Given the description of an element on the screen output the (x, y) to click on. 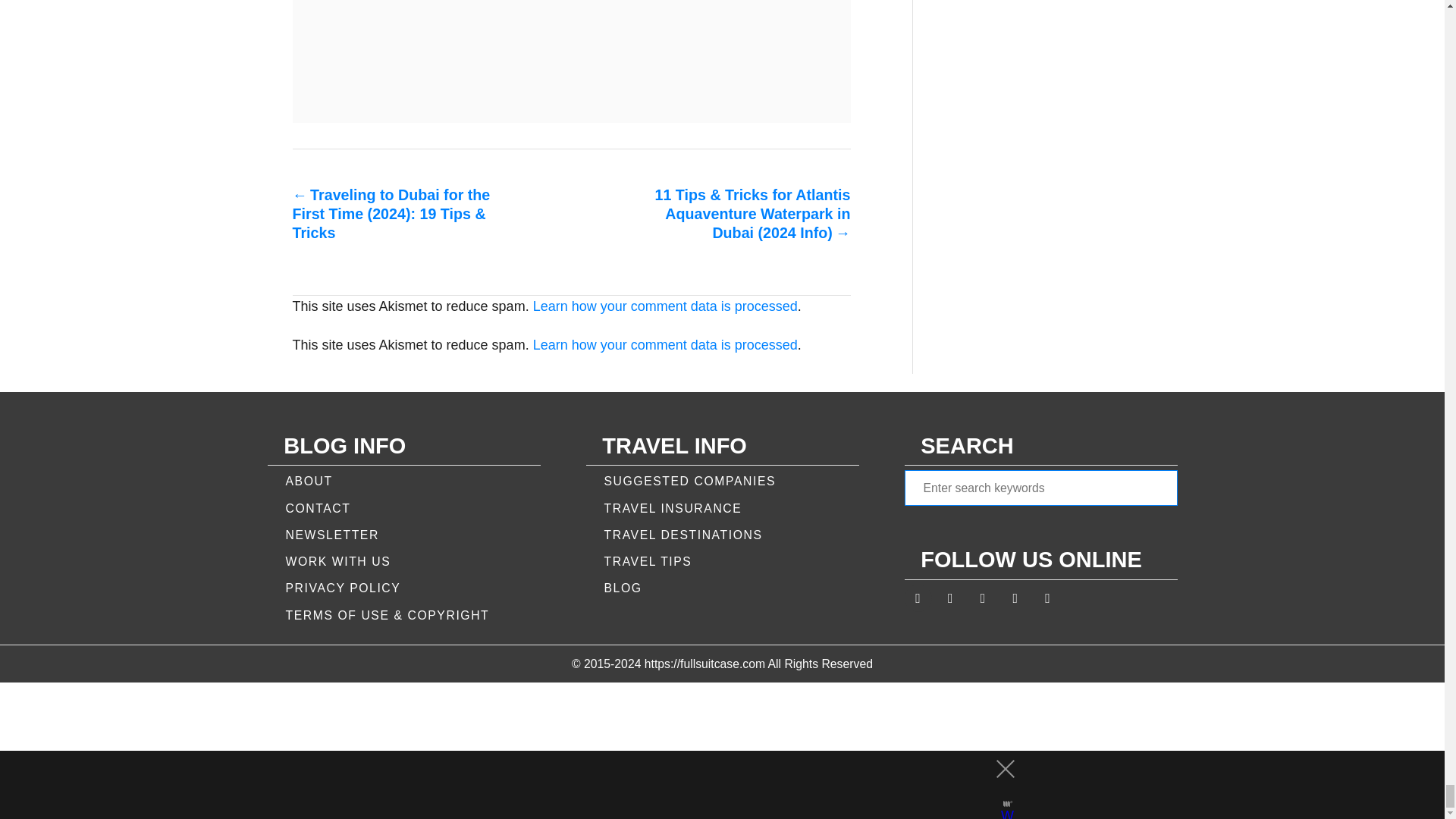
Search for: (1040, 488)
